Given the description of an element on the screen output the (x, y) to click on. 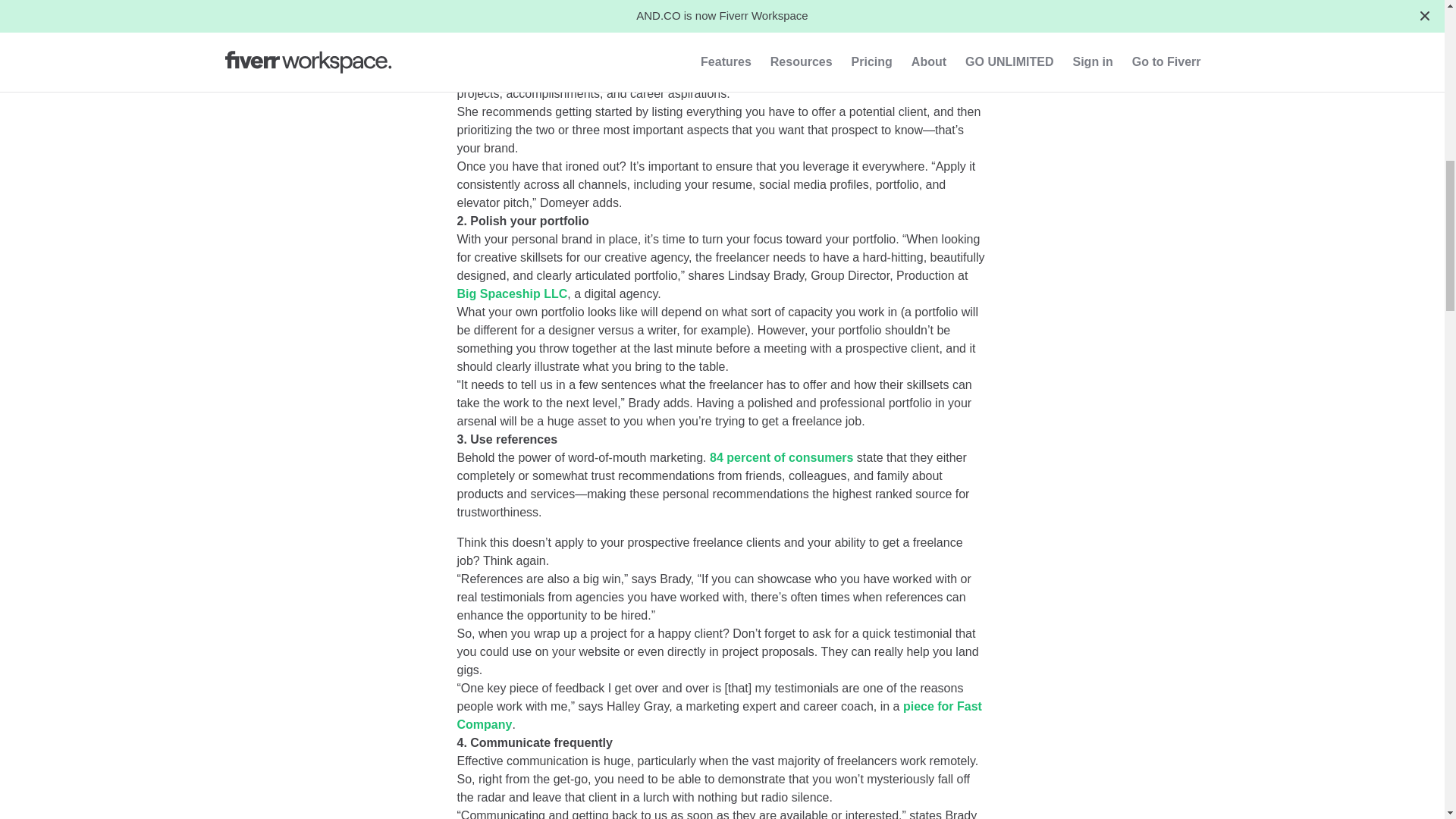
piece for Fast Company (719, 715)
Big Spaceship LLC (512, 293)
84 percent of consumers (781, 457)
